Given the description of an element on the screen output the (x, y) to click on. 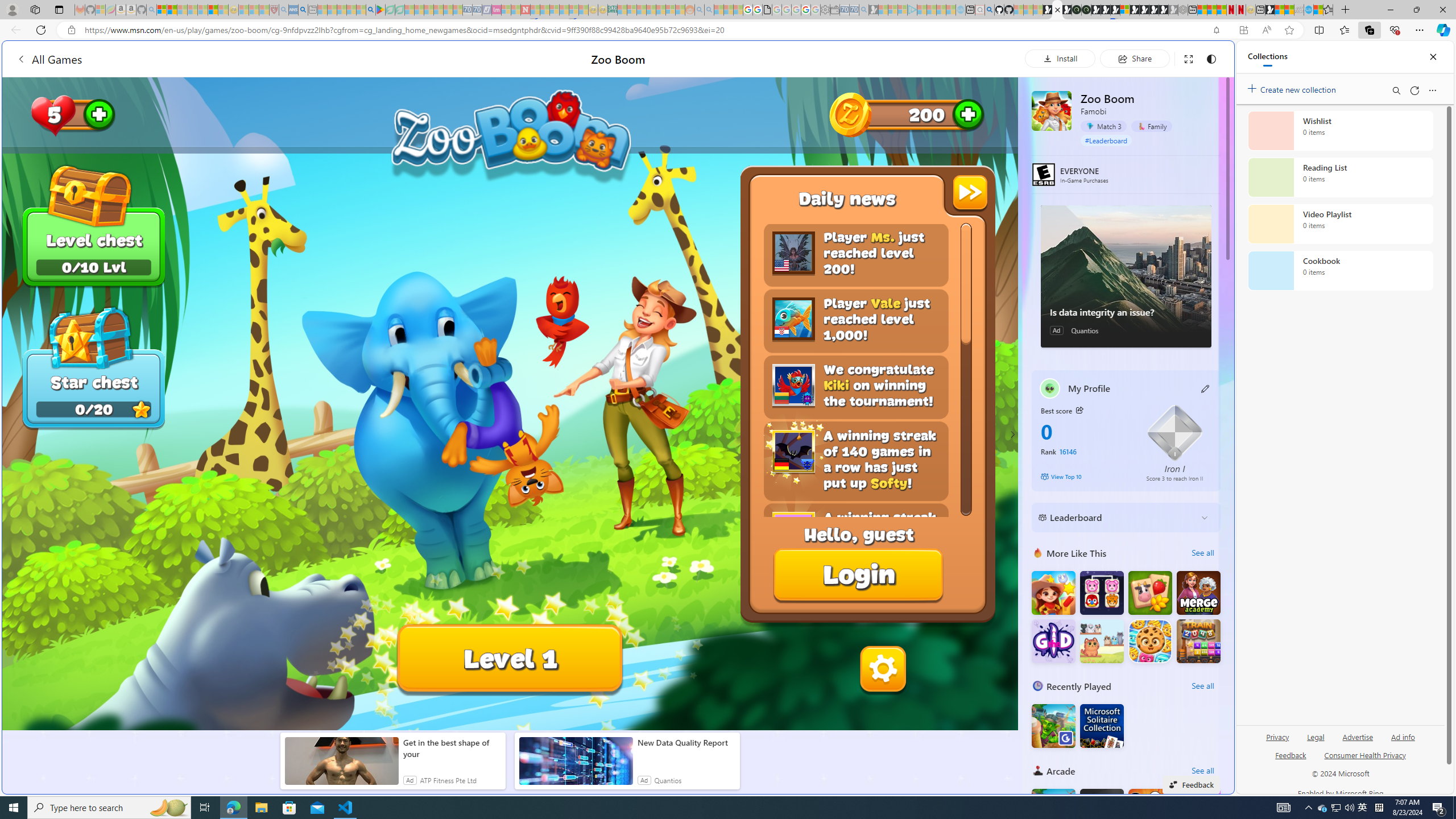
New Data Quality Report (686, 742)
Match 3 (1103, 126)
Wishlist collection, 0 items (1339, 130)
Ad info (1402, 741)
Tabs you've opened (885, 151)
Wallet - Sleeping (834, 9)
Recently played (1037, 685)
Consumer Health Privacy (1364, 754)
